Given the description of an element on the screen output the (x, y) to click on. 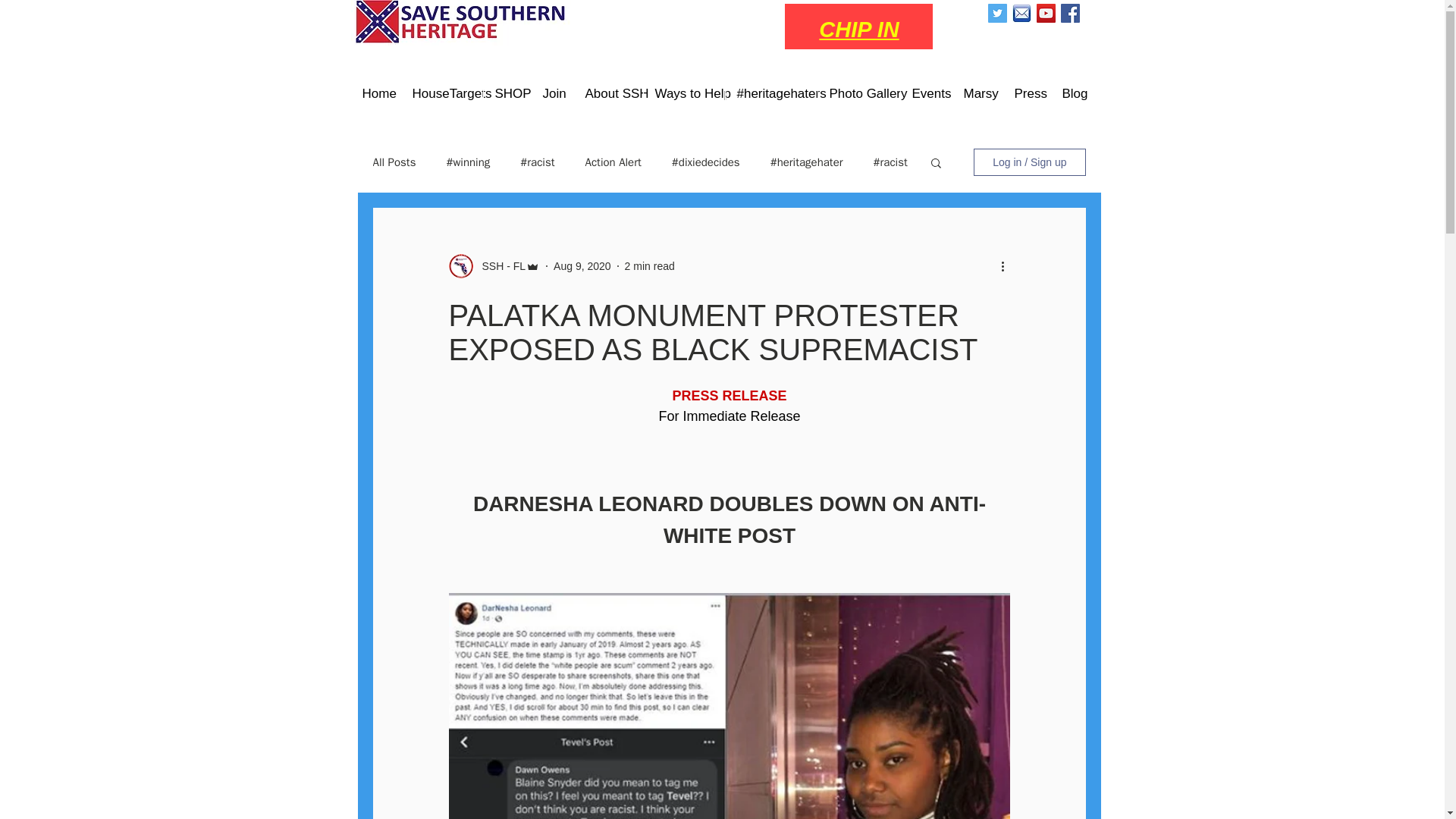
HouseTargets (441, 93)
Photo Gallery (857, 93)
Blog (1071, 93)
About SSH (608, 93)
2 min read (649, 265)
Aug 9, 2020 (582, 265)
CHIP IN (858, 29)
SHOP (505, 93)
SSH - FL (499, 265)
Marsy (975, 93)
